Given the description of an element on the screen output the (x, y) to click on. 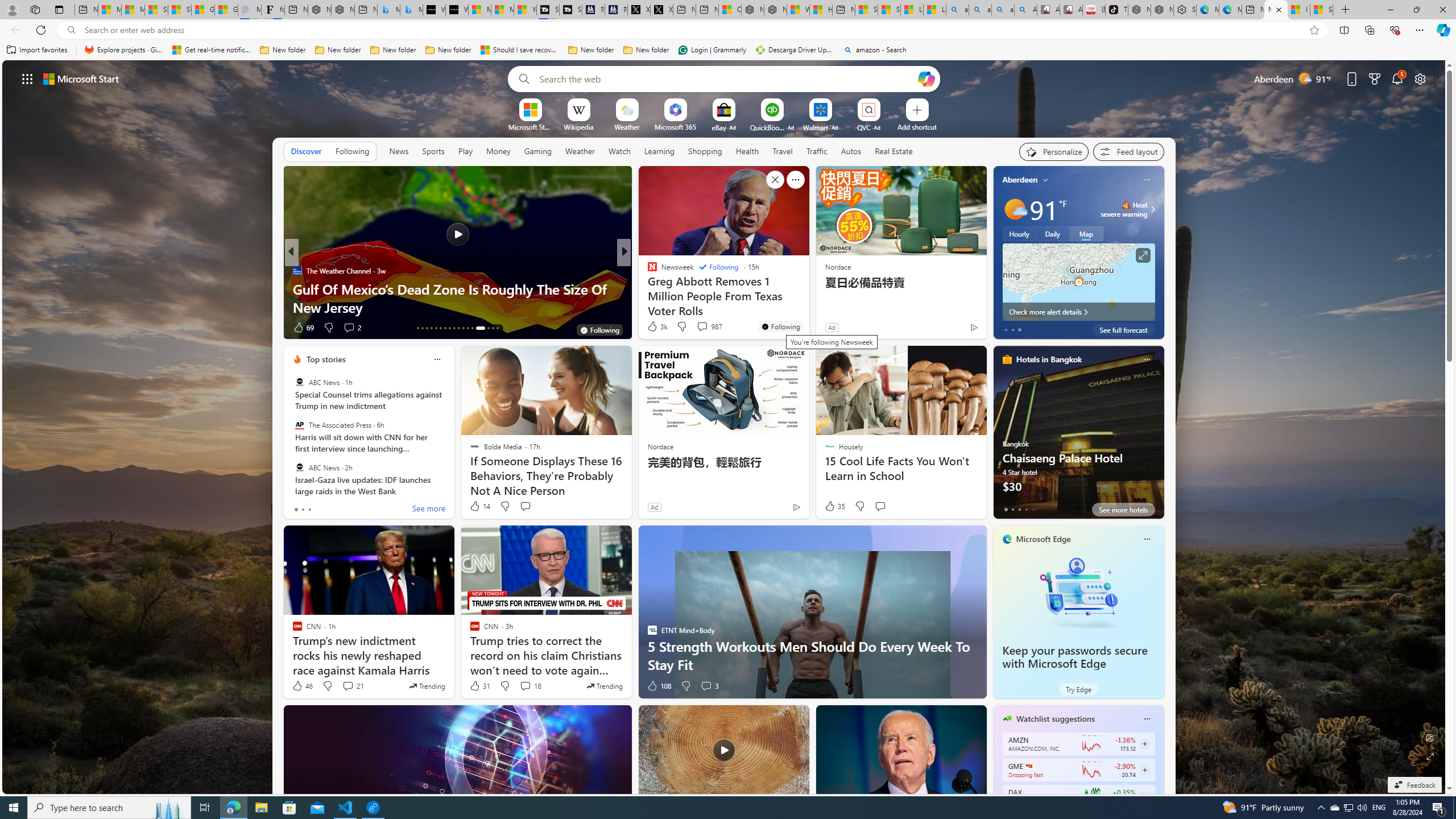
AutomationID: tab-22 (458, 328)
Heat - Severe (1126, 204)
Feed settings (1128, 151)
Enter your search term (726, 78)
Mostly sunny (1014, 208)
View comments 251 Comment (6, 327)
Larger map  (1077, 282)
View comments 17 Comment (707, 327)
Nordace - Summer Adventures 2024 (775, 9)
Hotels in Bangkok (1048, 359)
Daily (1052, 233)
New folder (646, 49)
Heat - Severe Heat severe warning (1123, 208)
